Given the description of an element on the screen output the (x, y) to click on. 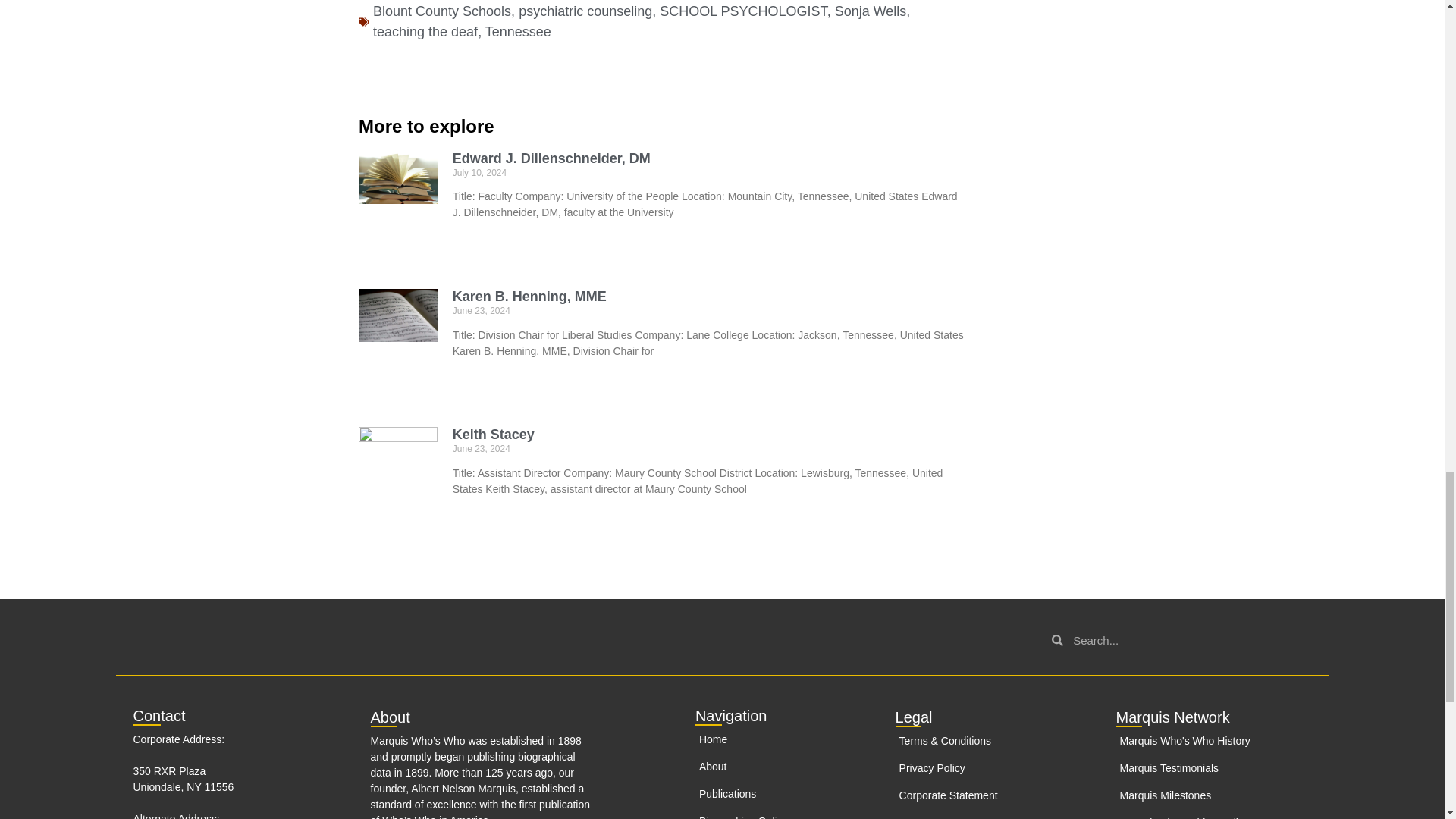
Tennessee (517, 31)
Edward J. Dillenschneider, DM (551, 158)
teaching the deaf (424, 31)
Sonja Wells (870, 11)
Blount County Schools (441, 11)
psychiatric counseling (585, 11)
Publications (768, 794)
Karen B. Henning, MME (529, 296)
Privacy Policy (995, 768)
SCHOOL PSYCHOLOGIST (743, 11)
